Given the description of an element on the screen output the (x, y) to click on. 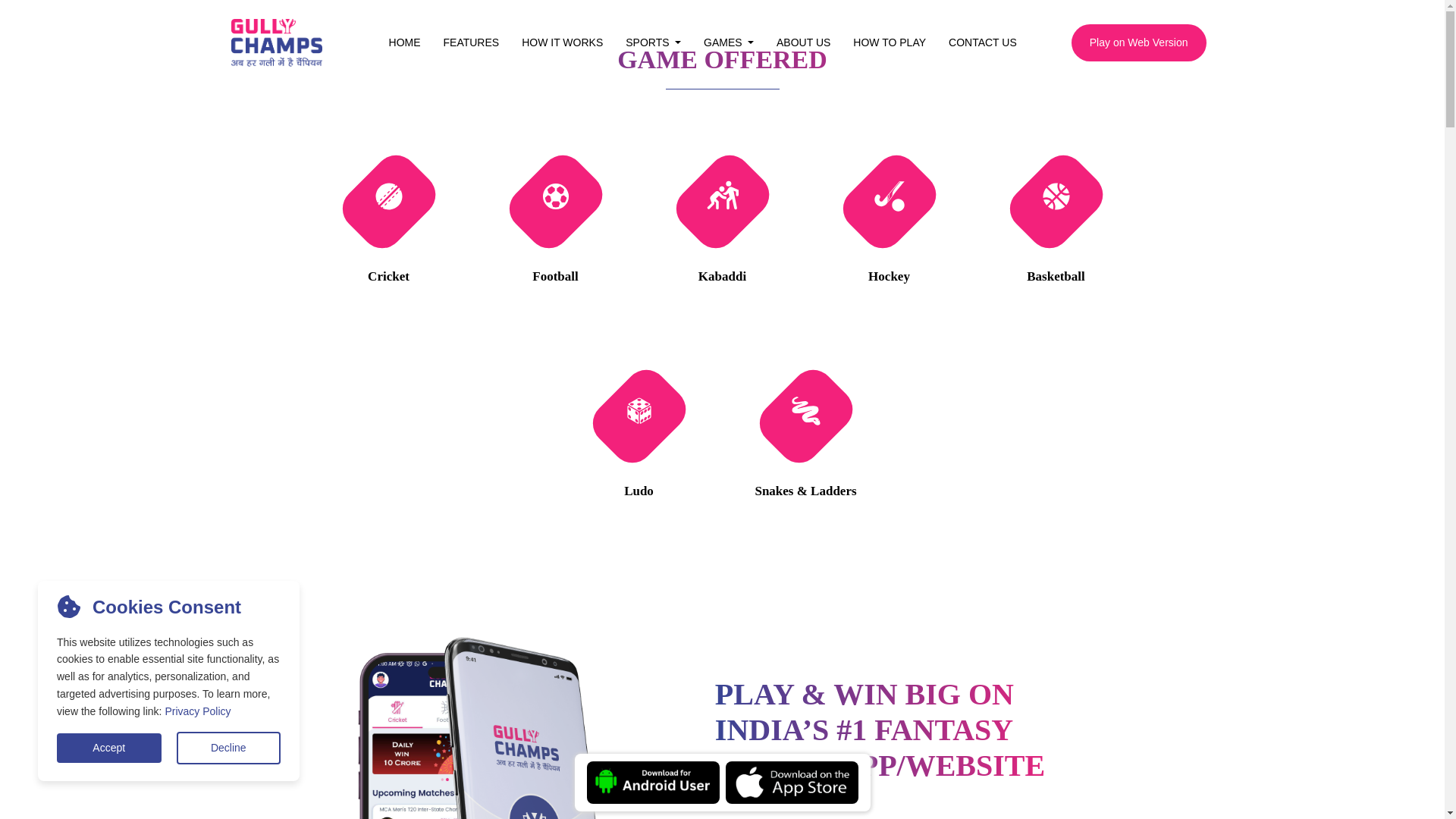
HOW TO PLAY (889, 42)
Cricket (388, 276)
Kabaddi (721, 276)
Hockey (888, 276)
ABOUT US (803, 42)
Play on Web Version (1139, 42)
GAMES (729, 42)
HOW IT WORKS (562, 42)
Basketball (1055, 276)
CONTACT US (982, 42)
FEATURES (471, 42)
HOME (404, 42)
SPORTS (653, 42)
Ludo (638, 490)
Football (555, 276)
